Given the description of an element on the screen output the (x, y) to click on. 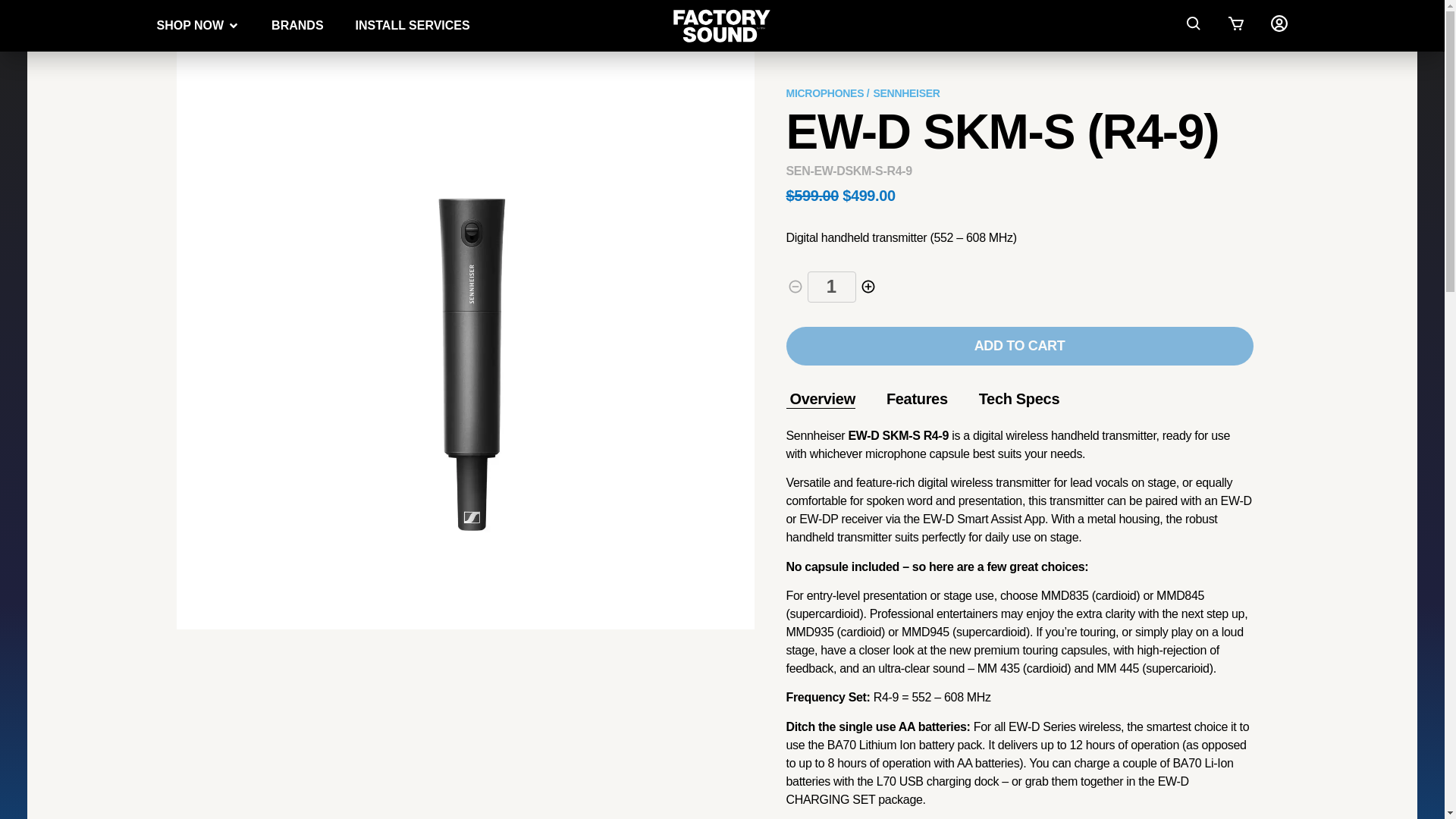
BRANDS (296, 25)
1 (831, 286)
INSTALL SERVICES (412, 25)
SHOP NOW (189, 25)
